Given the description of an element on the screen output the (x, y) to click on. 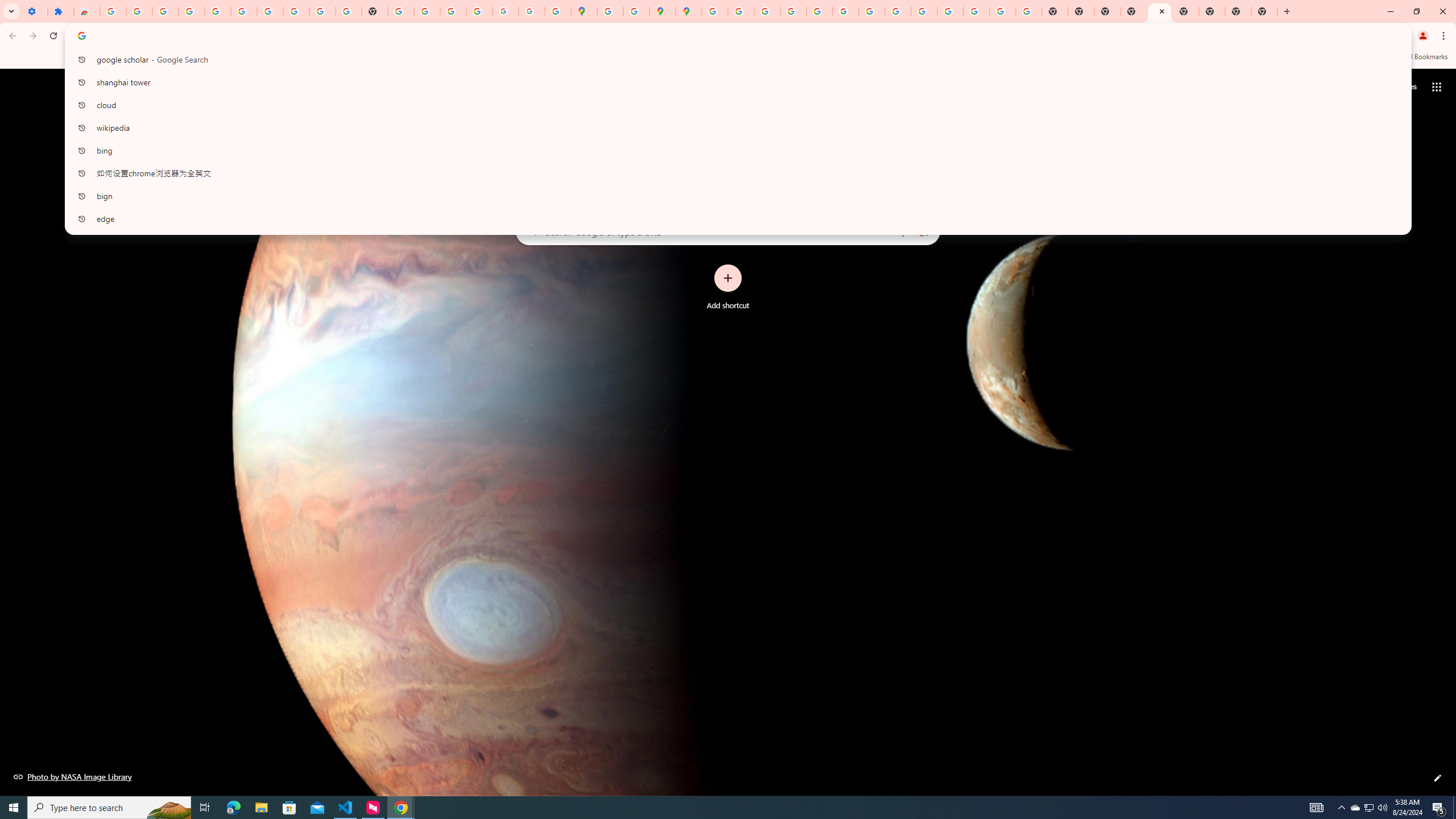
cloud search from history (733, 105)
shanghai tower search from history (733, 82)
YouTube (871, 11)
